Given the description of an element on the screen output the (x, y) to click on. 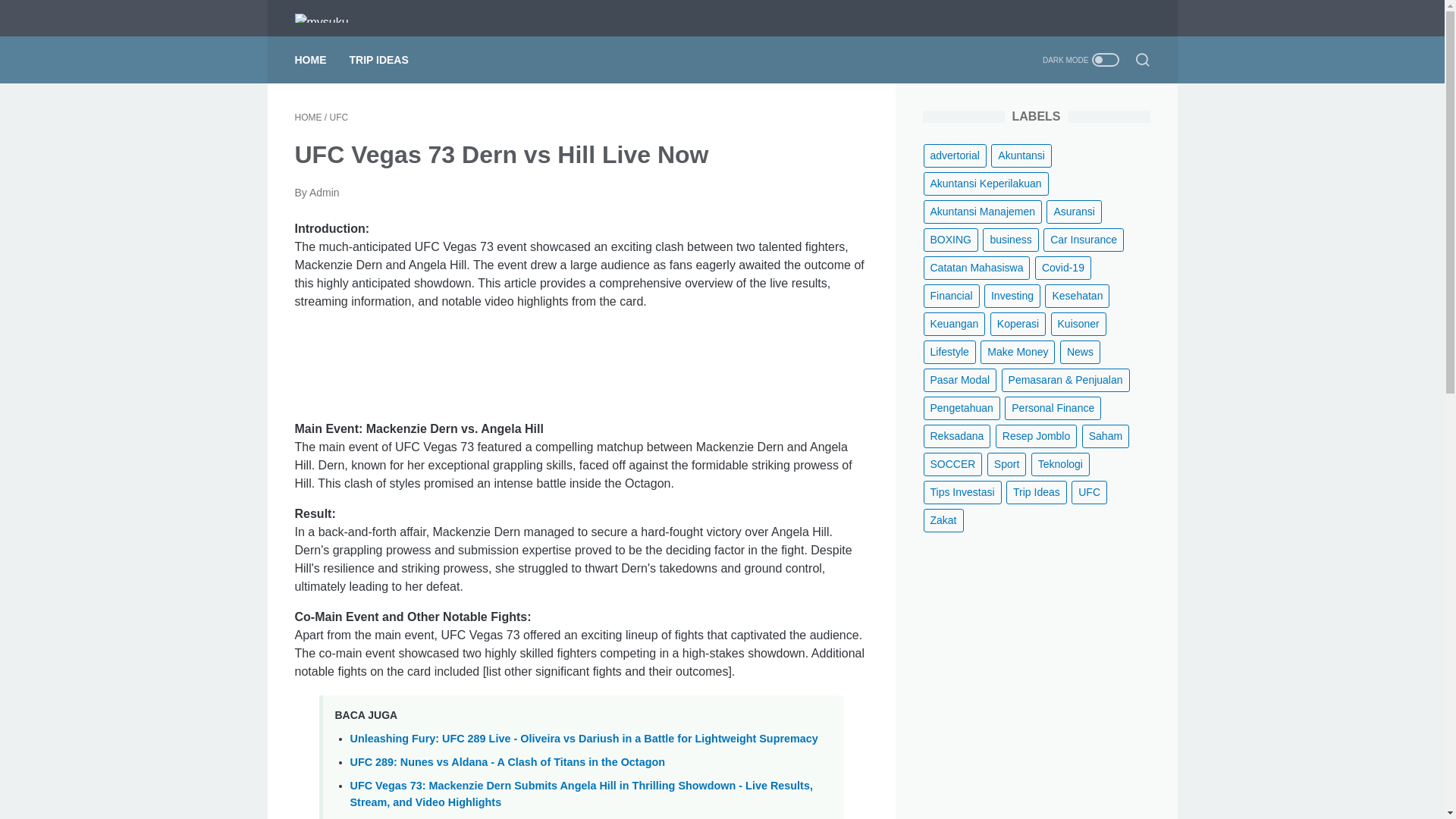
HOME (307, 117)
TRIP IDEAS (378, 60)
mysuku (320, 17)
UFC 289: Nunes vs Aldana - A Clash of Titans in the Octagon (507, 761)
UFC (339, 117)
advertorial (955, 155)
Akuntansi Manajemen (982, 211)
Akuntansi Keperilakuan (985, 183)
mysuku (330, 17)
UFC (339, 117)
Catatan Mahasiswa (976, 268)
business (1010, 239)
Akuntansi (1021, 155)
Car Insurance (1083, 239)
